Given the description of an element on the screen output the (x, y) to click on. 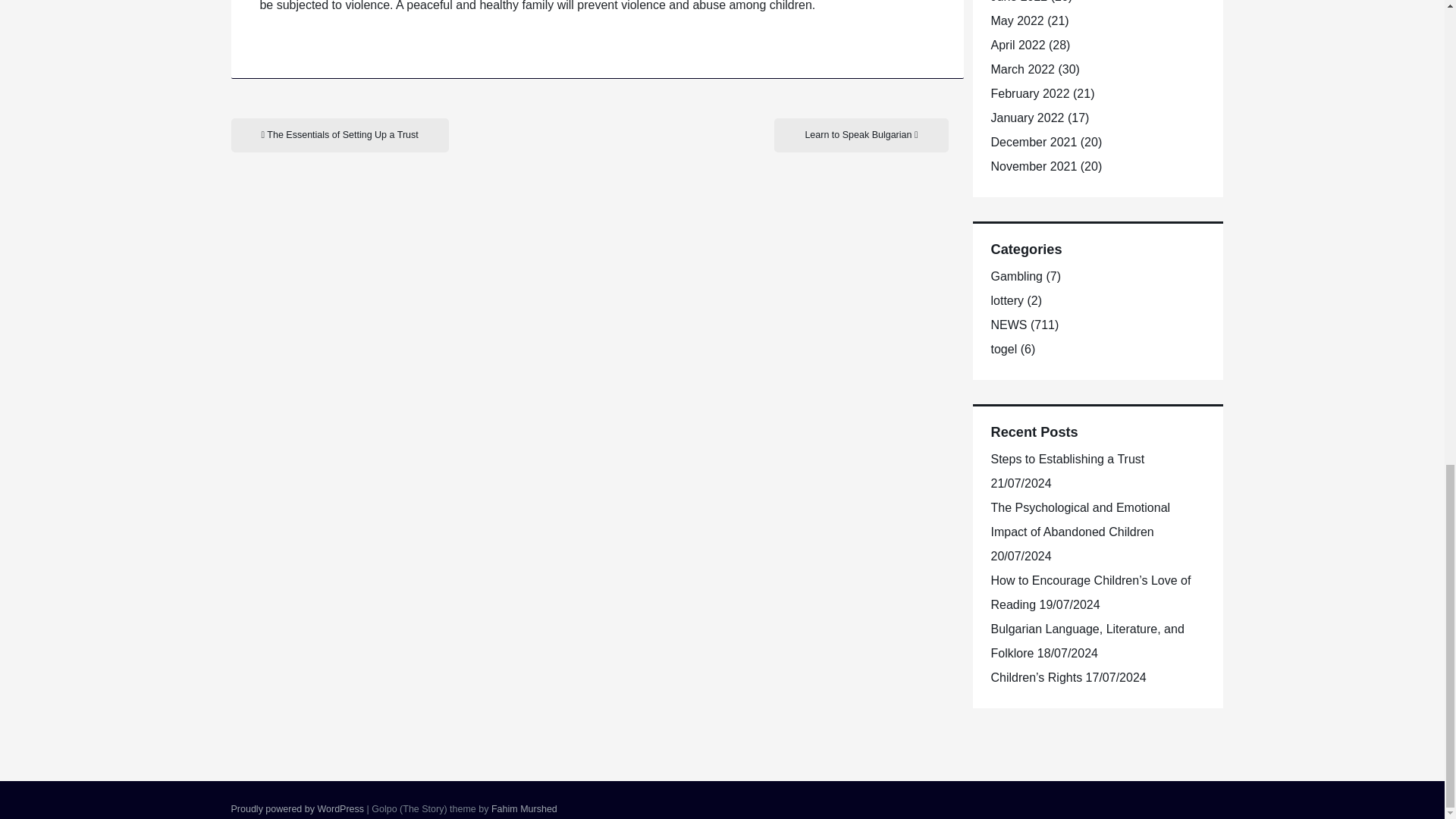
May 2022 (1016, 20)
Learn to Speak Bulgarian (860, 134)
The Essentials of Setting Up a Trust (339, 134)
March 2022 (1022, 69)
June 2022 (1018, 1)
April 2022 (1017, 44)
